Given the description of an element on the screen output the (x, y) to click on. 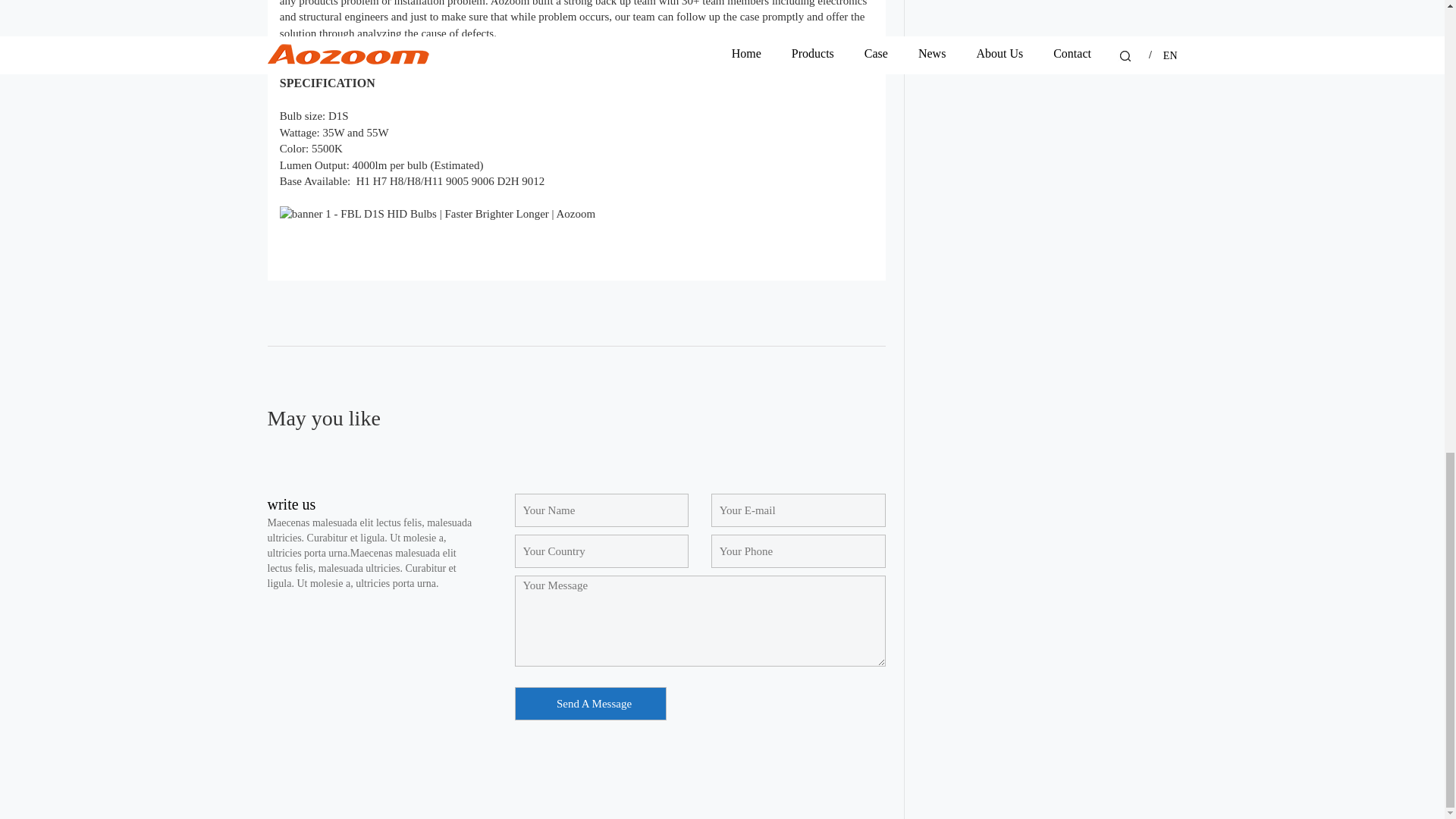
write us (290, 504)
Send A Message (589, 702)
Send A Message (589, 702)
